Given the description of an element on the screen output the (x, y) to click on. 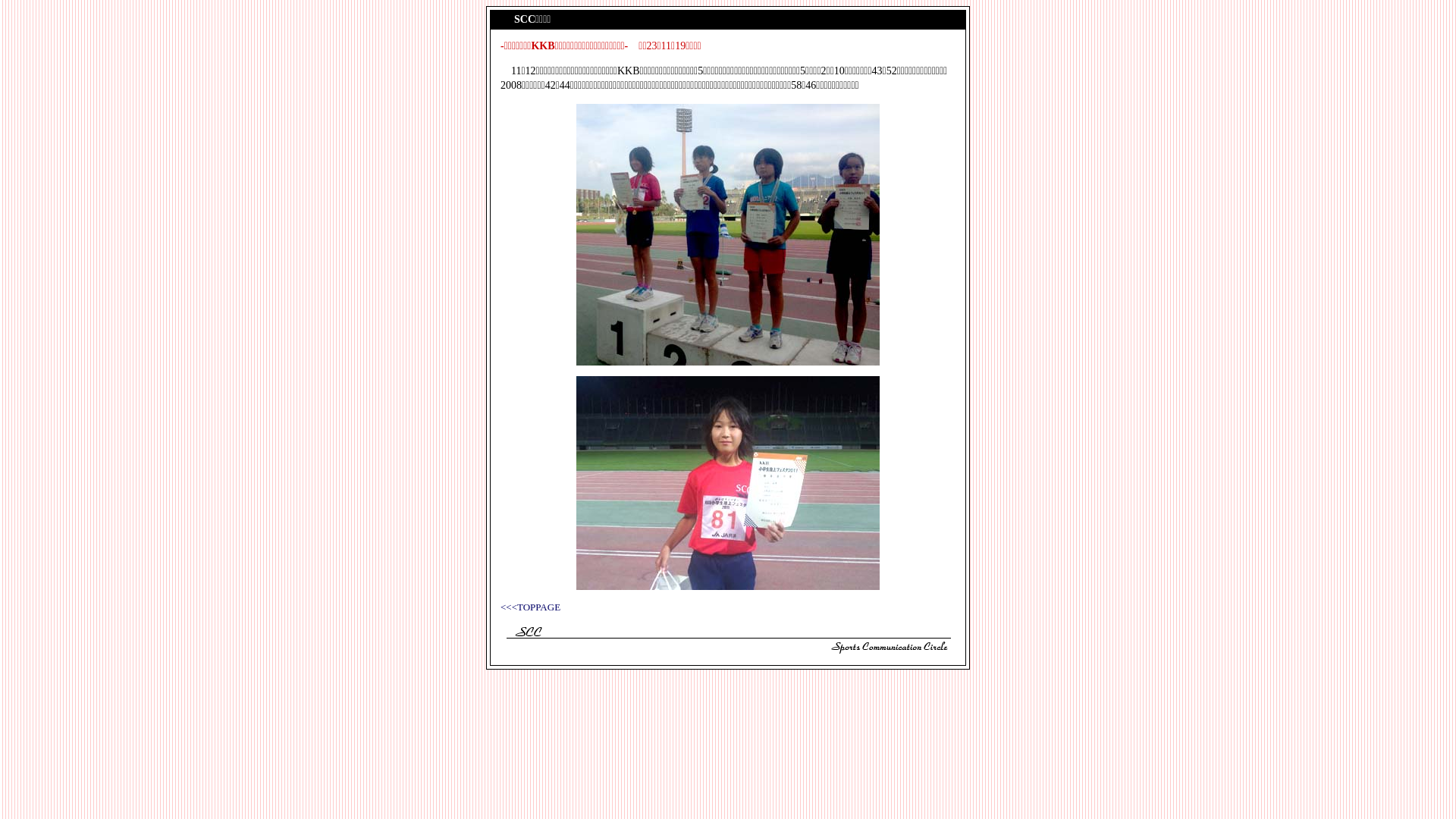
<<<TOPPAGE Element type: text (530, 606)
